Given the description of an element on the screen output the (x, y) to click on. 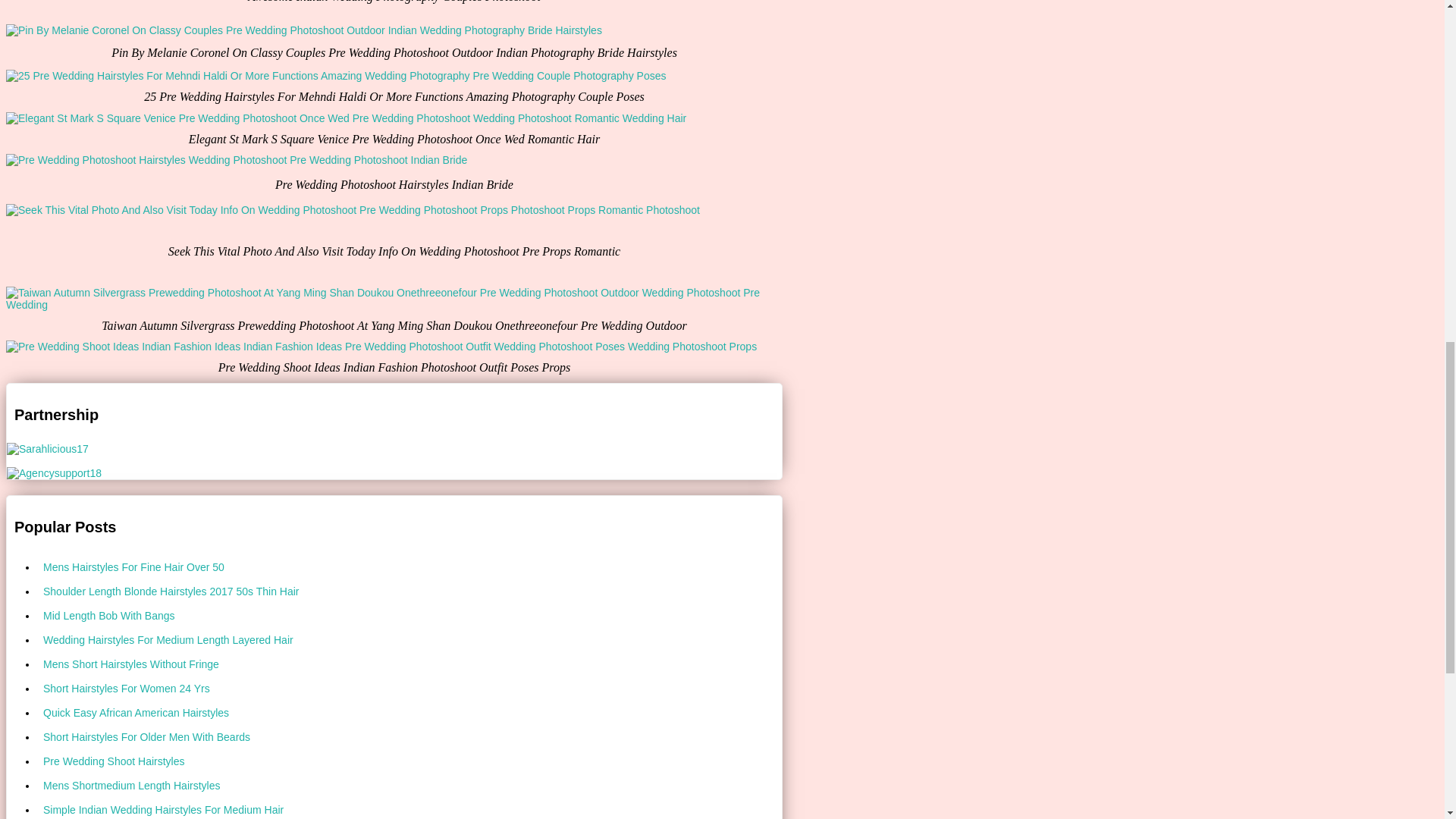
Wedding Hairstyles For Medium Length Layered Hair (409, 639)
Shoulder Length Blonde Hairstyles 2017 50s Thin Hair (409, 591)
Mid Length Bob With Bangs (409, 615)
Mens Shortmedium Length Hairstyles (409, 785)
Short Hairstyles For Women 24 Yrs (409, 688)
Agencysupport18 (54, 472)
Short Hairstyles For Older Men With Beards (409, 736)
Mens Hairstyles For Fine Hair Over 50 (409, 567)
Simple Indian Wedding Hairstyles For Medium Hair (409, 808)
Sarahlicious17 (47, 449)
Pre Wedding Shoot Hairstyles (409, 761)
Quick Easy African American Hairstyles (409, 712)
Mens Short Hairstyles Without Fringe (409, 663)
